Given the description of an element on the screen output the (x, y) to click on. 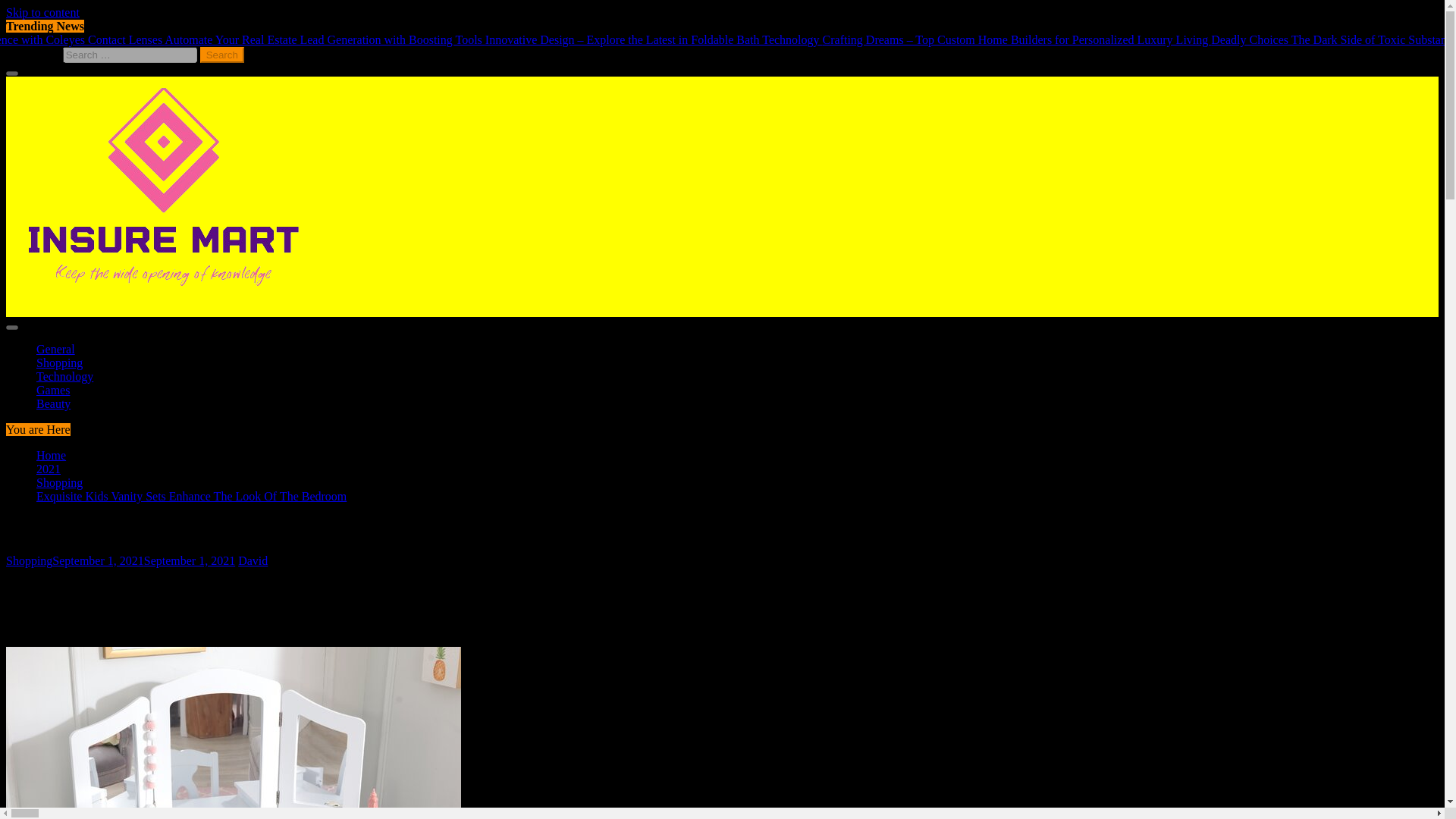
David (252, 560)
Insure Mart (33, 336)
General (55, 349)
Discover the Difference with Coleyes Contact Lenses (135, 39)
Shopping (28, 560)
Search (222, 54)
Exquisite Kids Vanity Sets Enhance The Look Of The Bedroom (191, 495)
Skip to content (42, 11)
Shopping (59, 481)
